Given the description of an element on the screen output the (x, y) to click on. 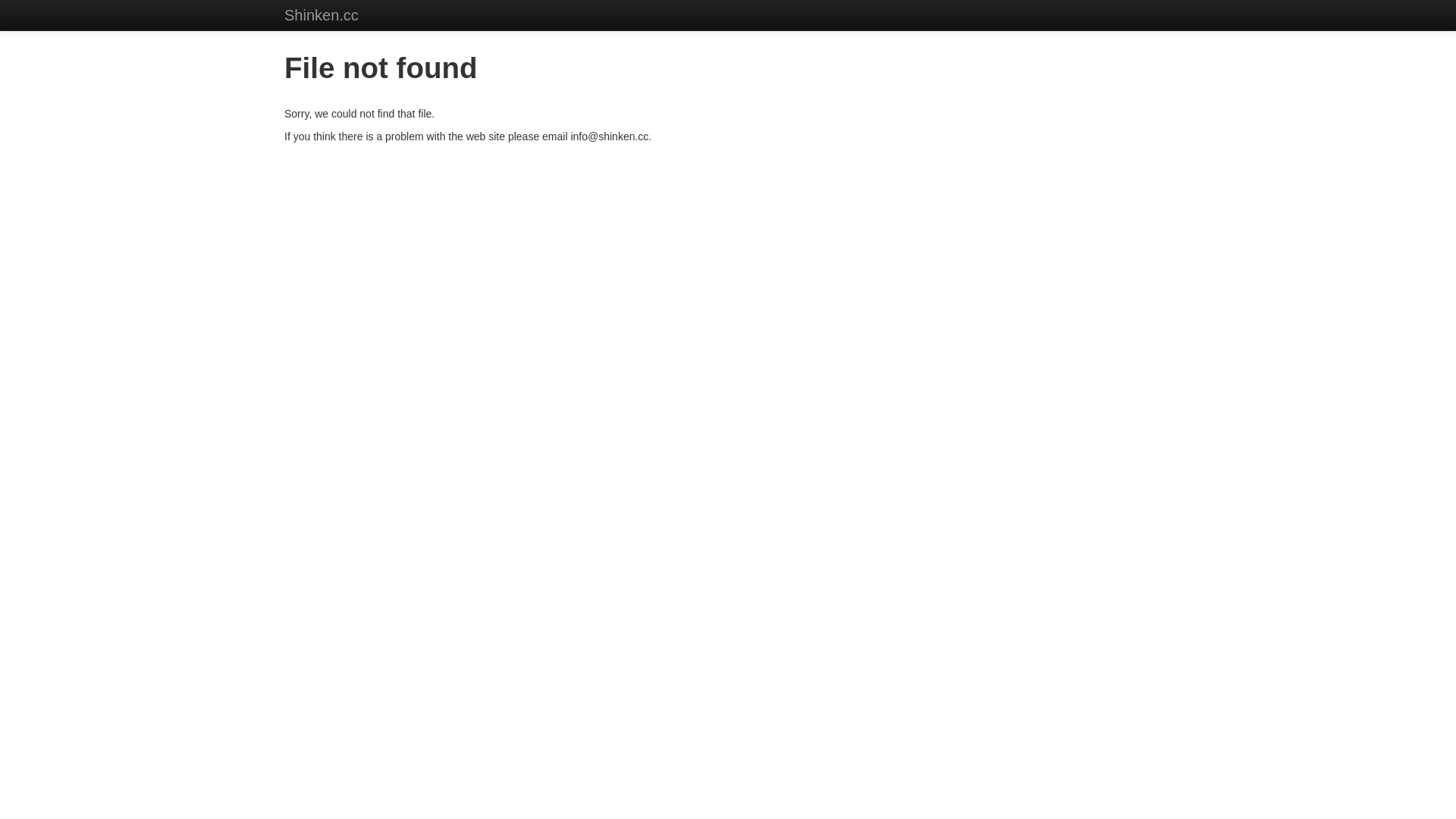
Shinken.cc Element type: text (321, 15)
